Given the description of an element on the screen output the (x, y) to click on. 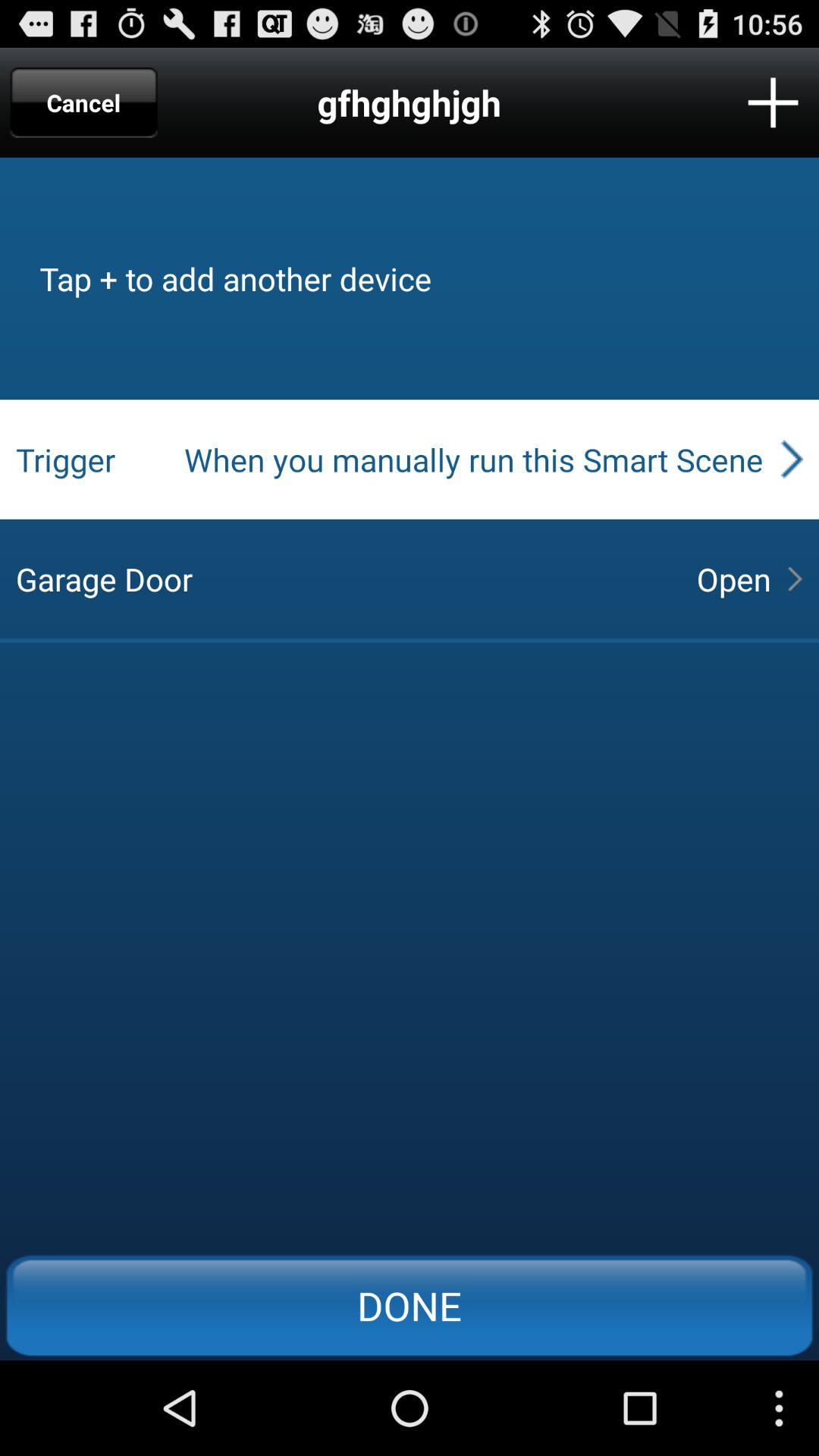
open item to the right of garage door (733, 578)
